Given the description of an element on the screen output the (x, y) to click on. 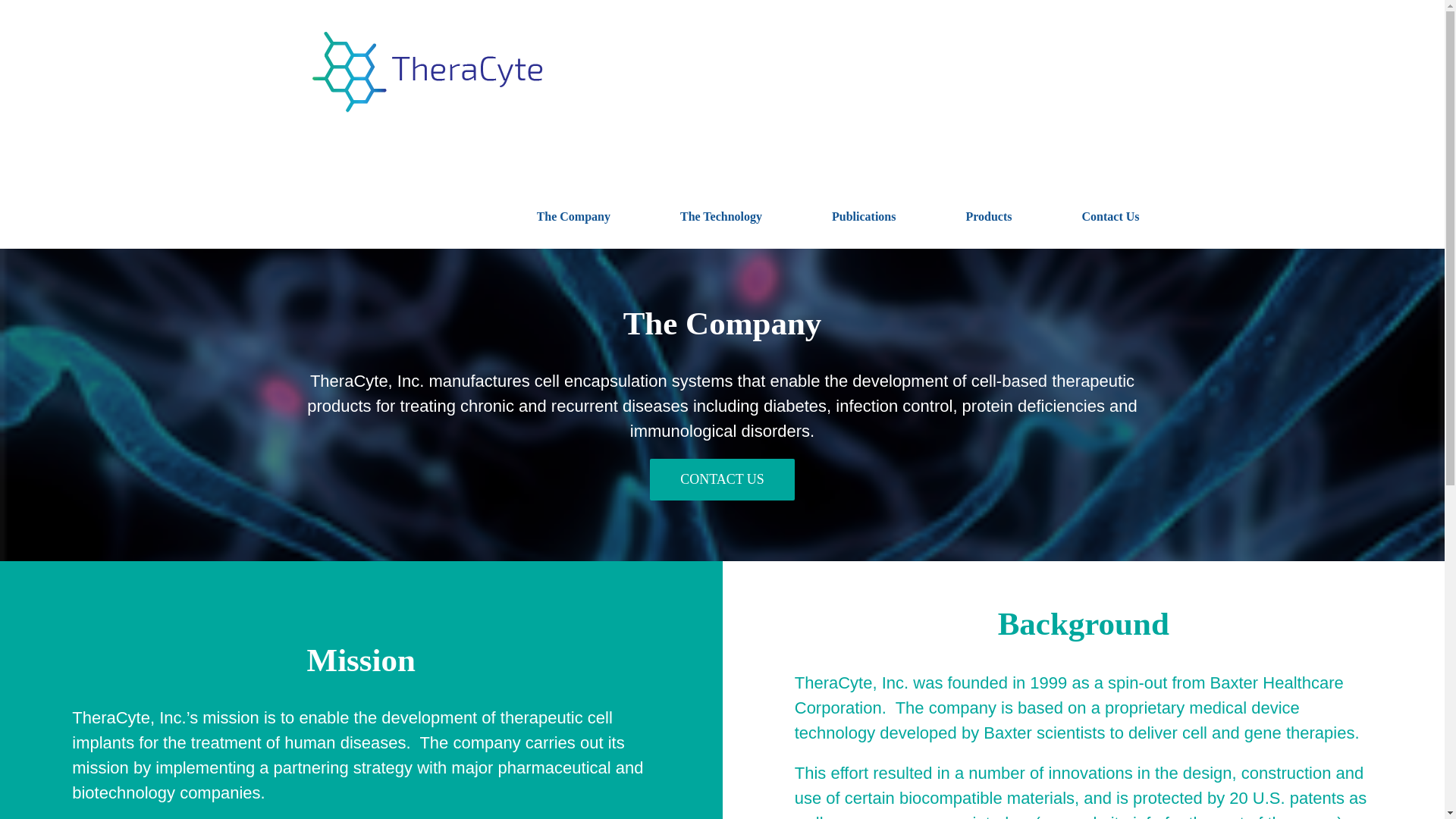
CONTACT US (721, 479)
Publications (863, 214)
The Technology (720, 214)
The Company (573, 214)
